Given the description of an element on the screen output the (x, y) to click on. 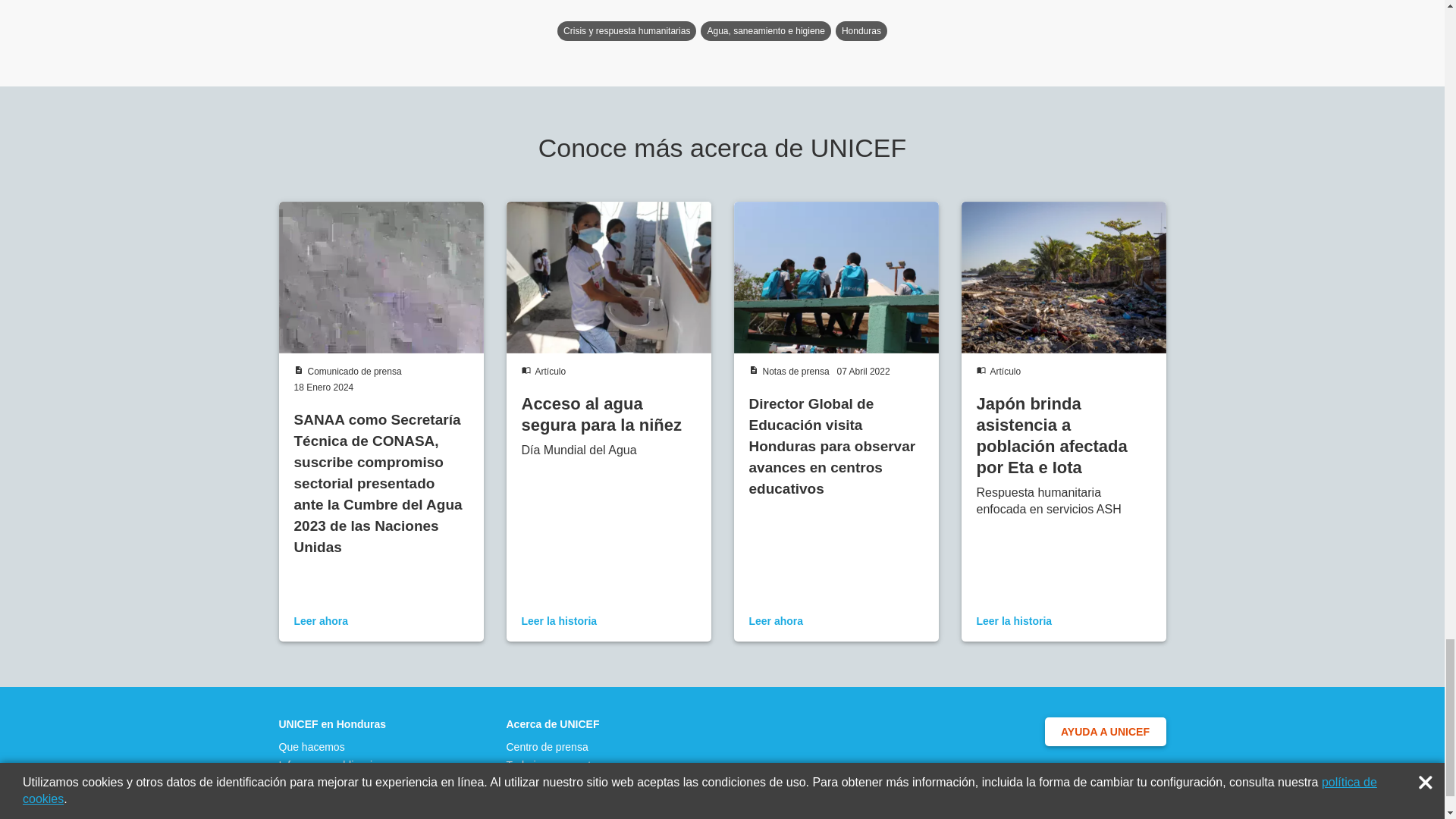
Agua, saneamiento e higiene (764, 107)
AYUDA A UNICEF (1105, 806)
Que hacemos (337, 817)
UNICEF en Honduras (337, 800)
Acerca de UNICEF (555, 800)
Que hacemos (337, 817)
UNICEF en Honduras (337, 800)
Centro de prensa (555, 817)
Honduras (860, 107)
Crisis y respuesta humanitarias (626, 107)
